Given the description of an element on the screen output the (x, y) to click on. 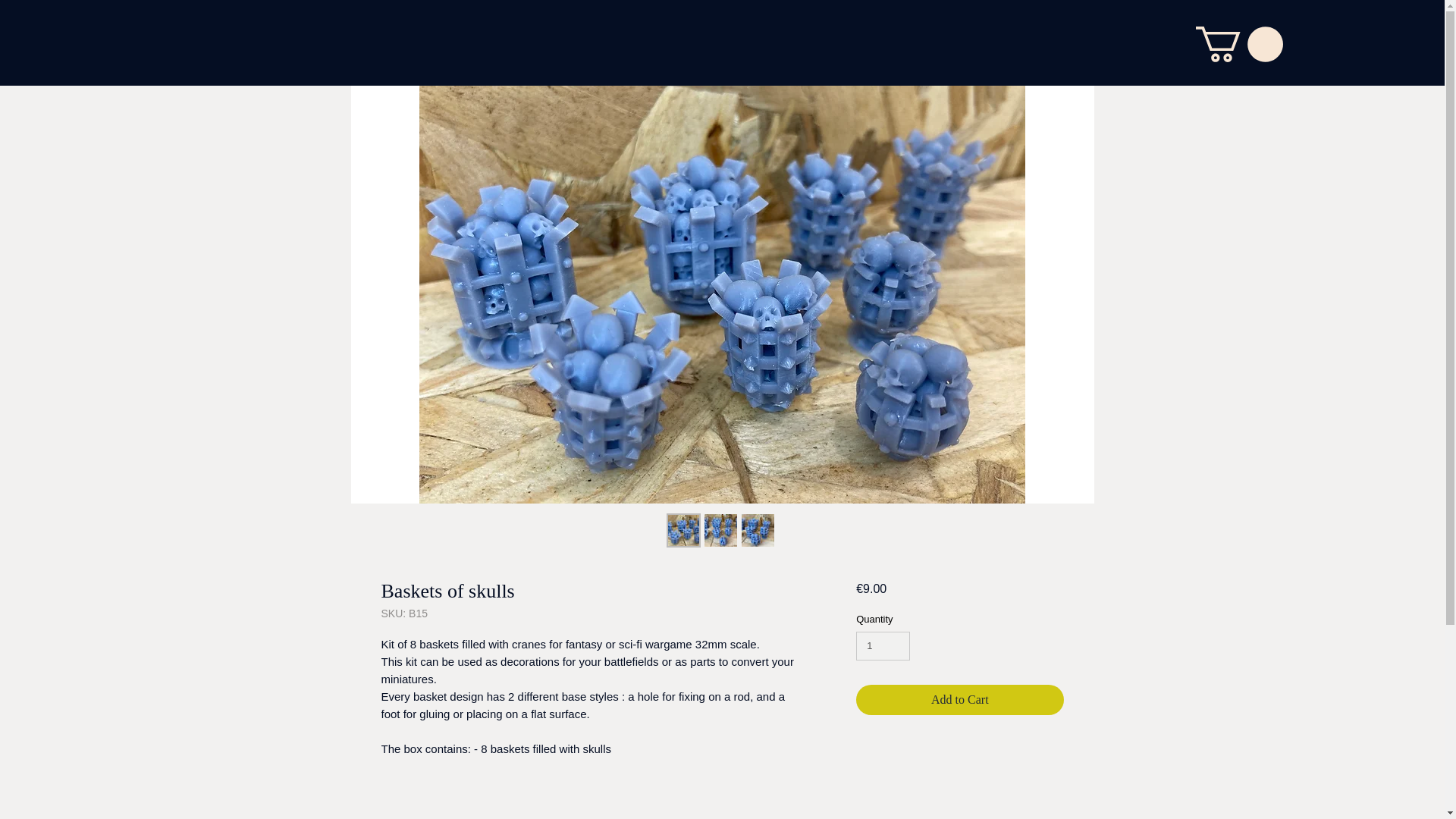
Add to Cart (959, 699)
1 (883, 645)
